Given the description of an element on the screen output the (x, y) to click on. 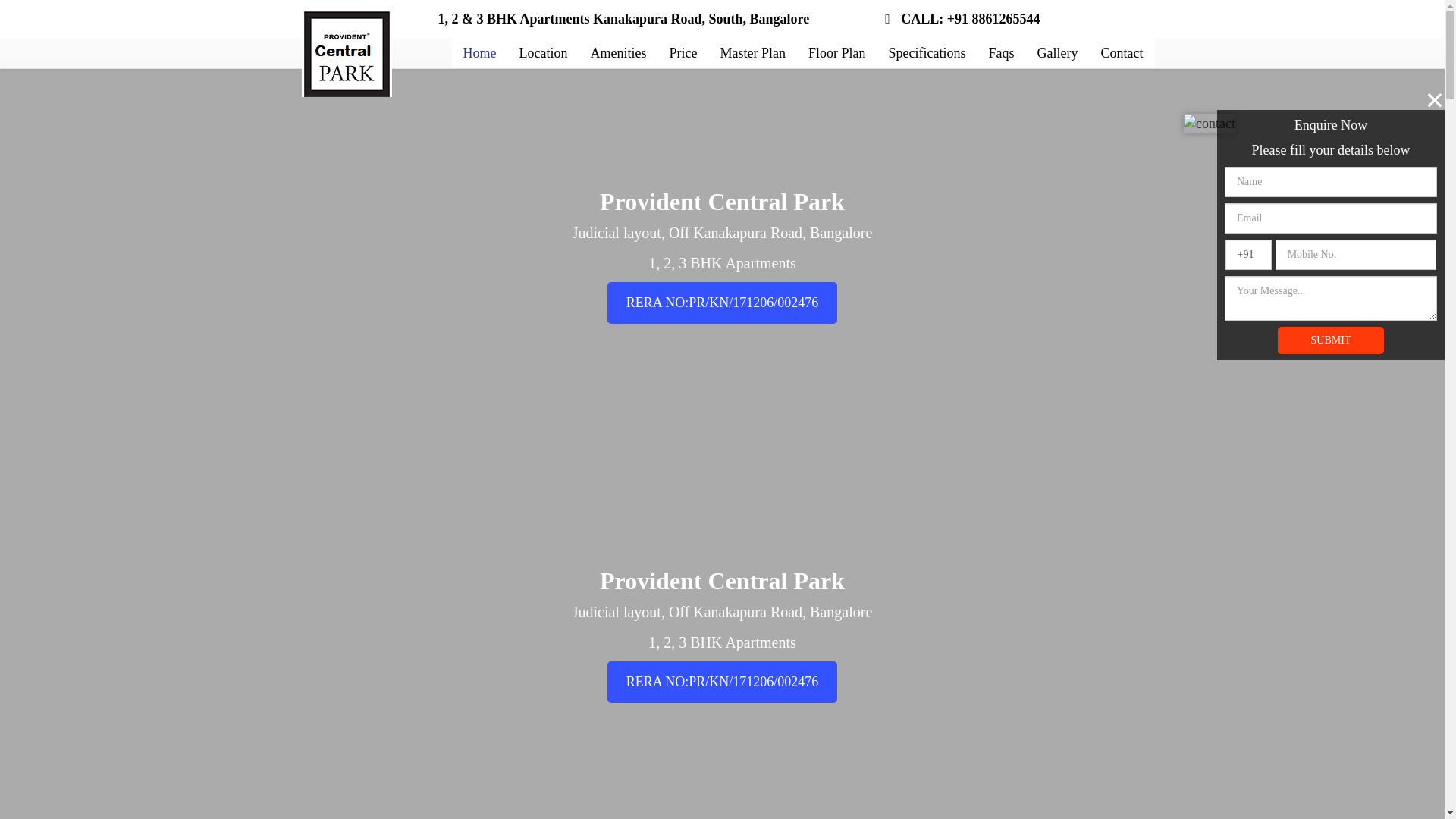
Contact (1121, 52)
Provident Central Park Master Plan (752, 52)
Faqs (1000, 52)
Enquire Now (722, 681)
Amenities (618, 52)
Provident Central Park Location (543, 52)
Gallery (1057, 52)
Provident Central Park Floor Plan (836, 52)
Provident Central Park Amenities (618, 52)
Provident Central Park Home (479, 52)
